Given the description of an element on the screen output the (x, y) to click on. 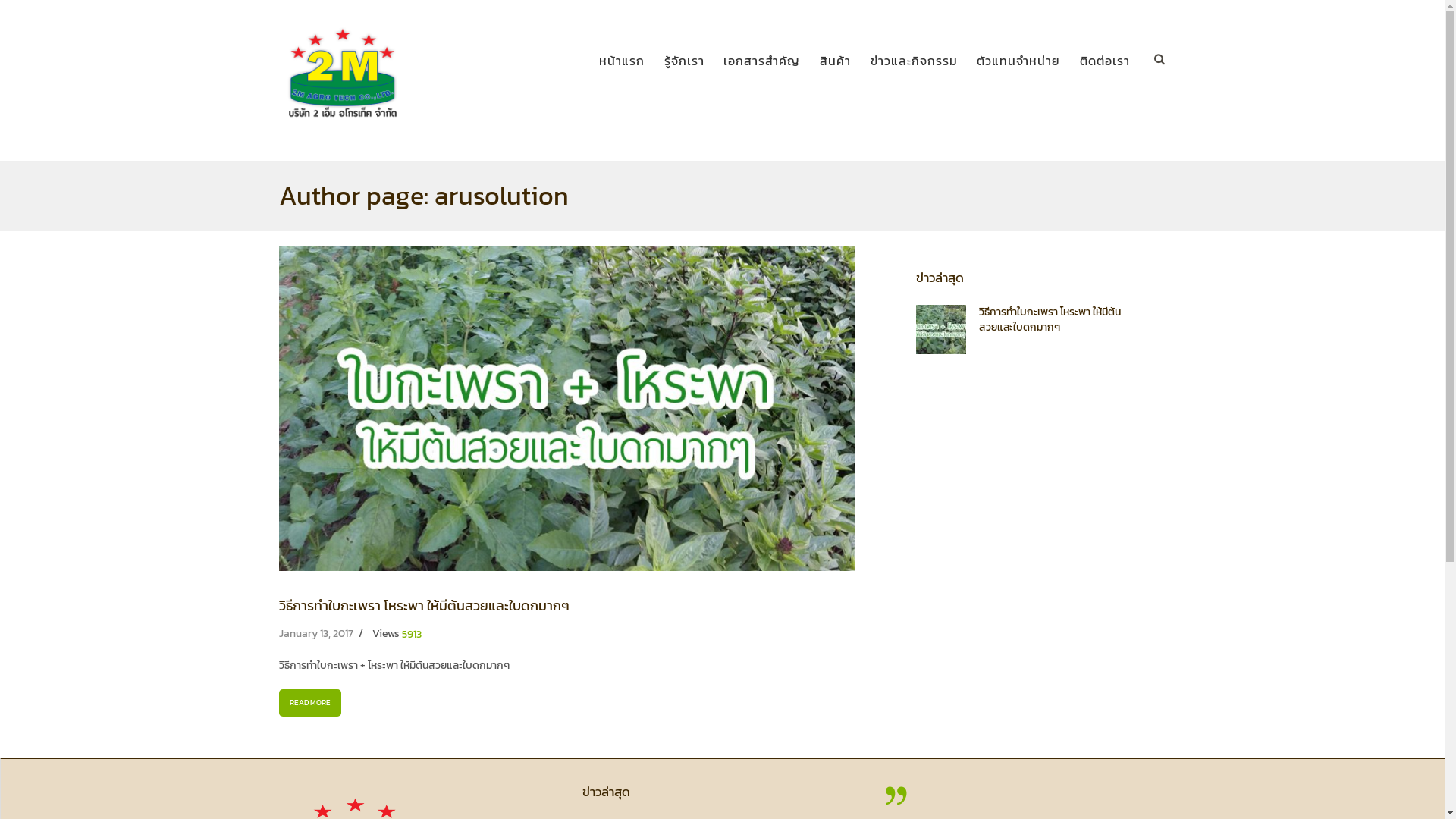
January 13, 2017 Element type: text (316, 633)
Open search Element type: hover (1161, 58)
5913 Element type: text (411, 634)
READ MORE Element type: text (310, 702)
